Given the description of an element on the screen output the (x, y) to click on. 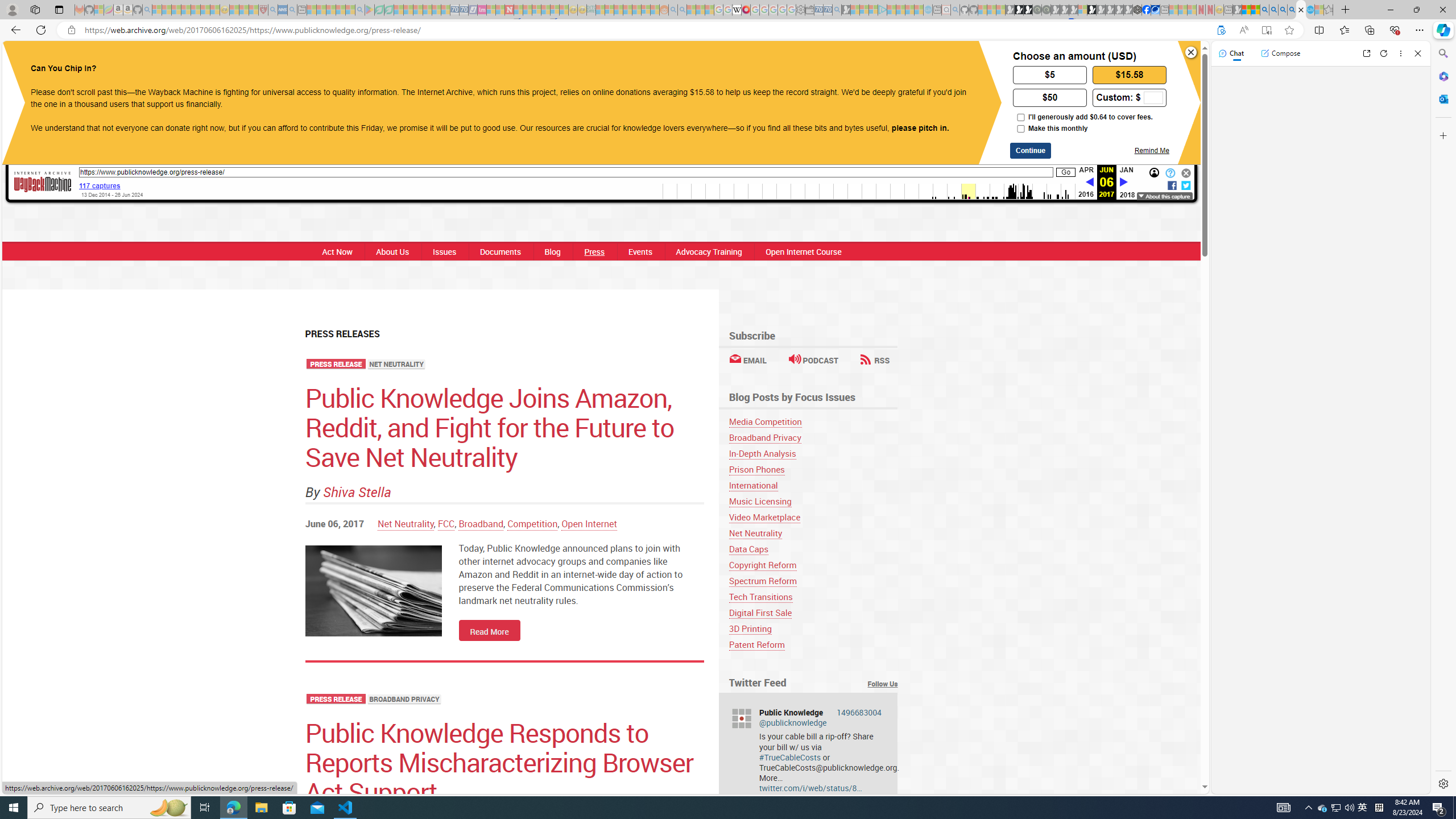
Explore captures for this URL (868, 191)
Expand the search (875, 56)
JAN (1126, 169)
2018 (1127, 194)
TWITTER (692, 60)
